Given the description of an element on the screen output the (x, y) to click on. 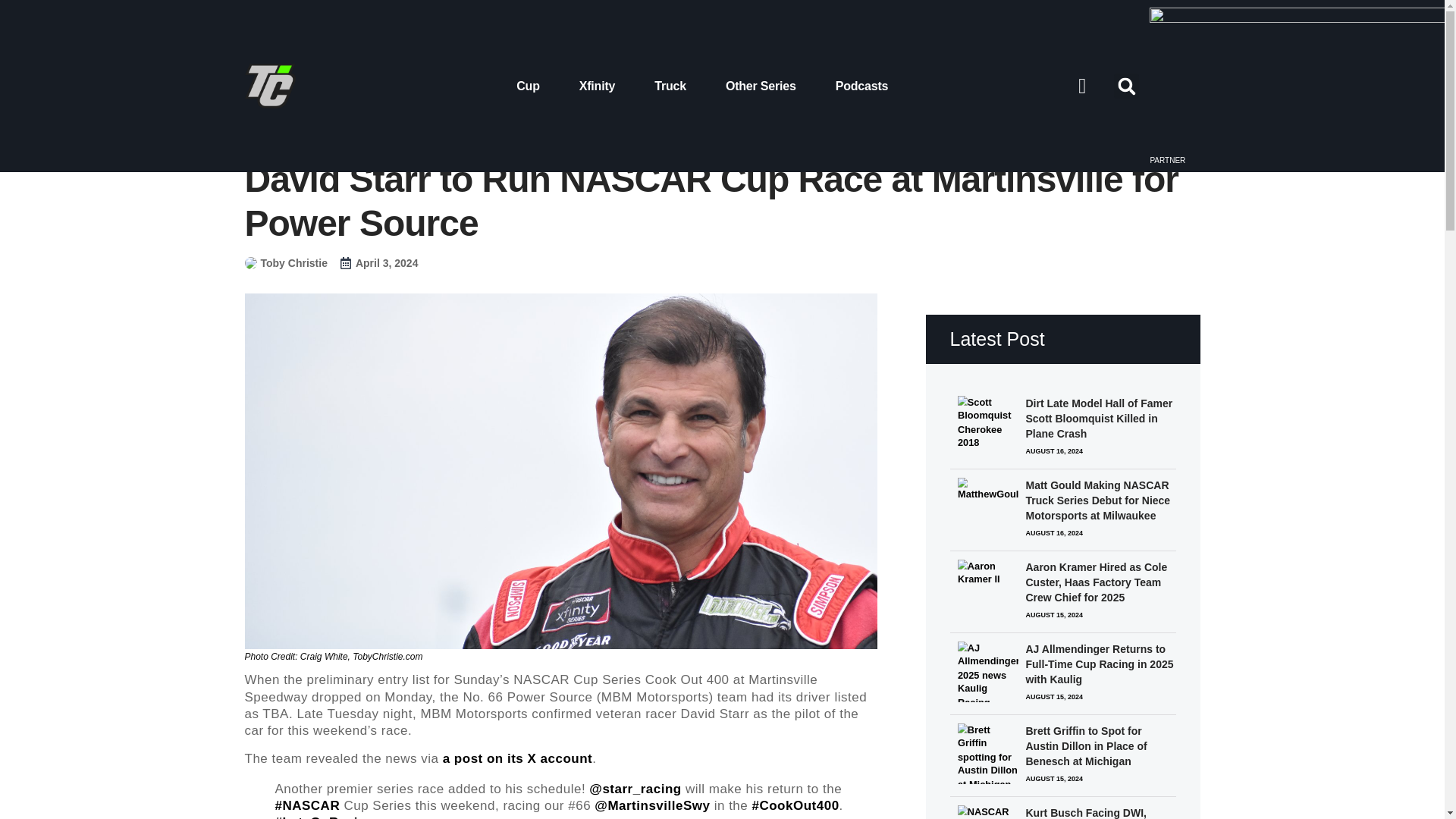
Xfinity (597, 85)
Cup (528, 85)
Truck (669, 85)
